Given the description of an element on the screen output the (x, y) to click on. 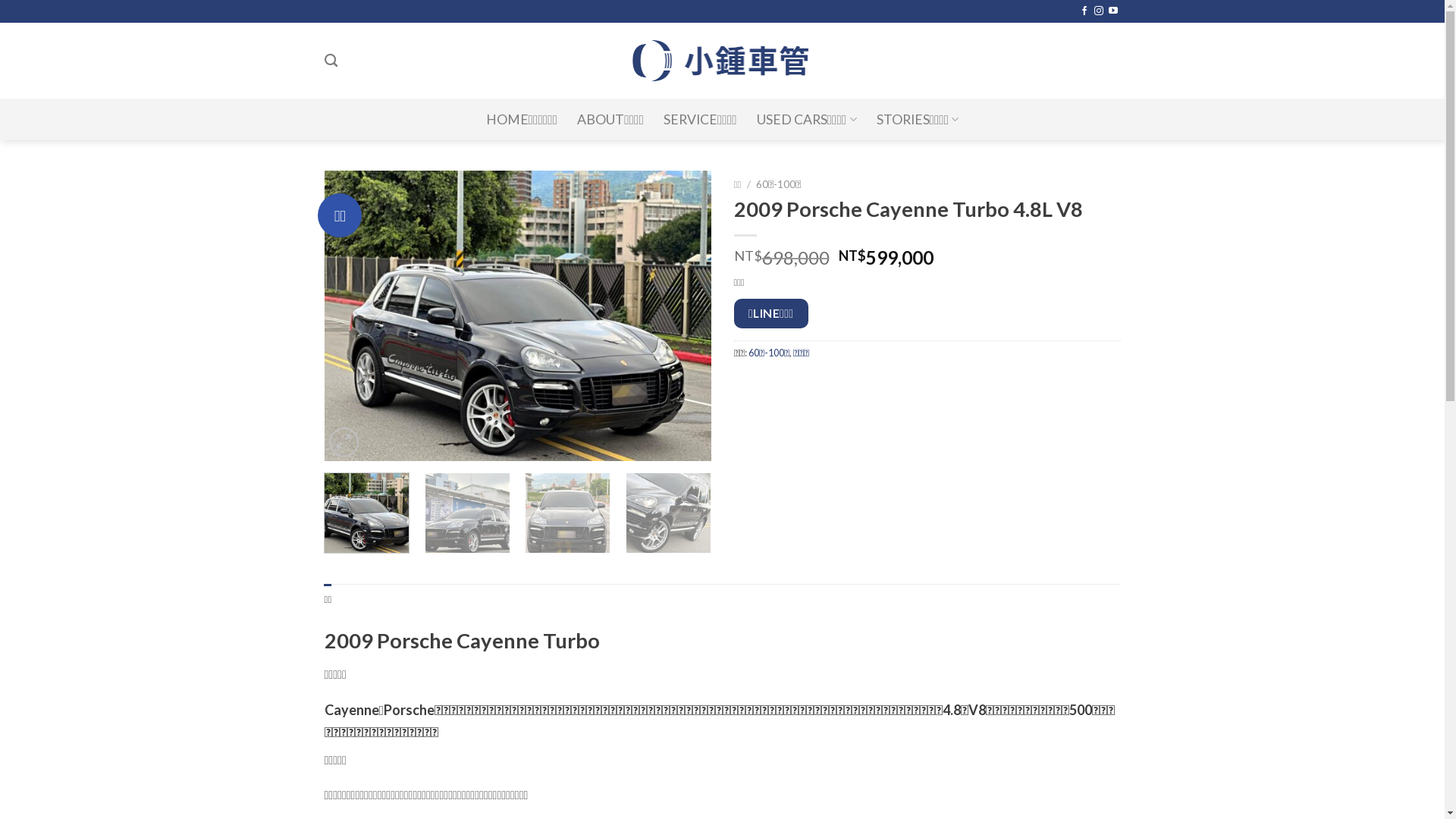
Follow on Instagram Element type: hover (1098, 11)
Follow on Facebook Element type: hover (1083, 11)
Zoom Element type: hover (343, 442)
LINE_ALBUM_220427_18 Element type: hover (517, 315)
Follow on YouTube Element type: hover (1112, 11)
